Given the description of an element on the screen output the (x, y) to click on. 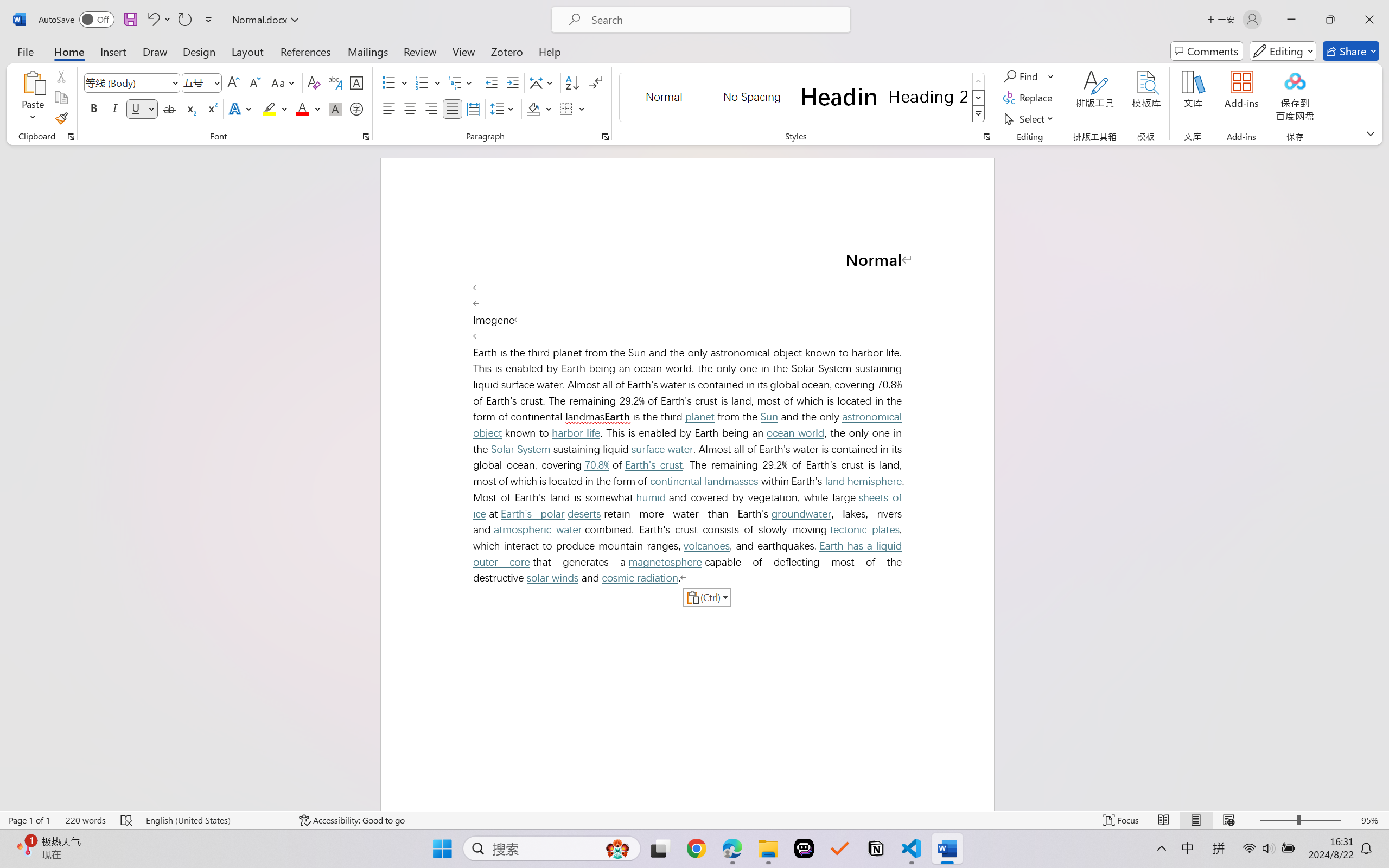
Format Painter (60, 118)
Show/Hide Editing Marks (595, 82)
Asian Layout (542, 82)
sheets of ice (690, 505)
Paragraph... (605, 136)
groundwater (800, 513)
Page 1 content (687, 521)
Row up (978, 81)
